Given the description of an element on the screen output the (x, y) to click on. 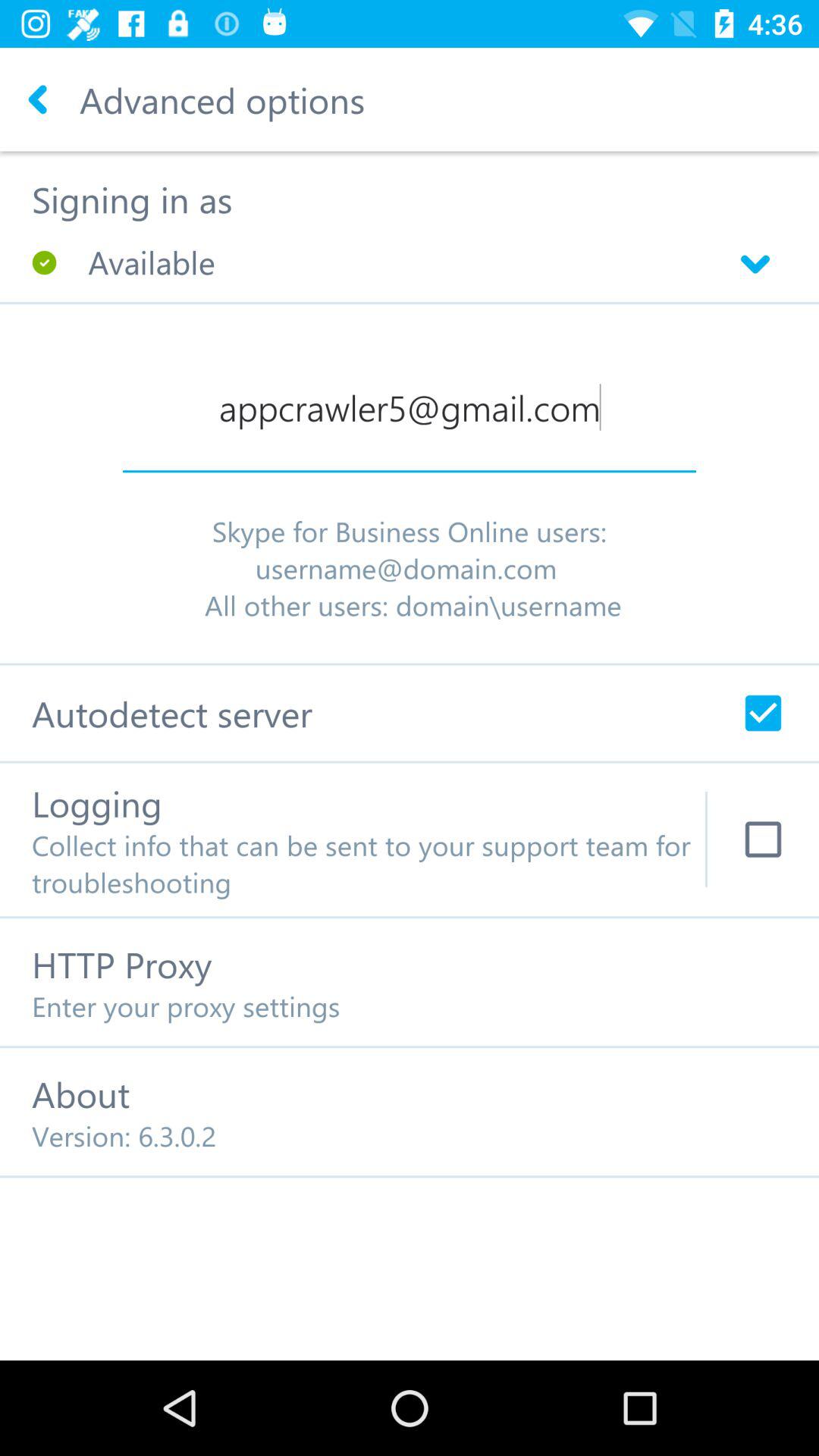
log info for tech support (763, 839)
